Given the description of an element on the screen output the (x, y) to click on. 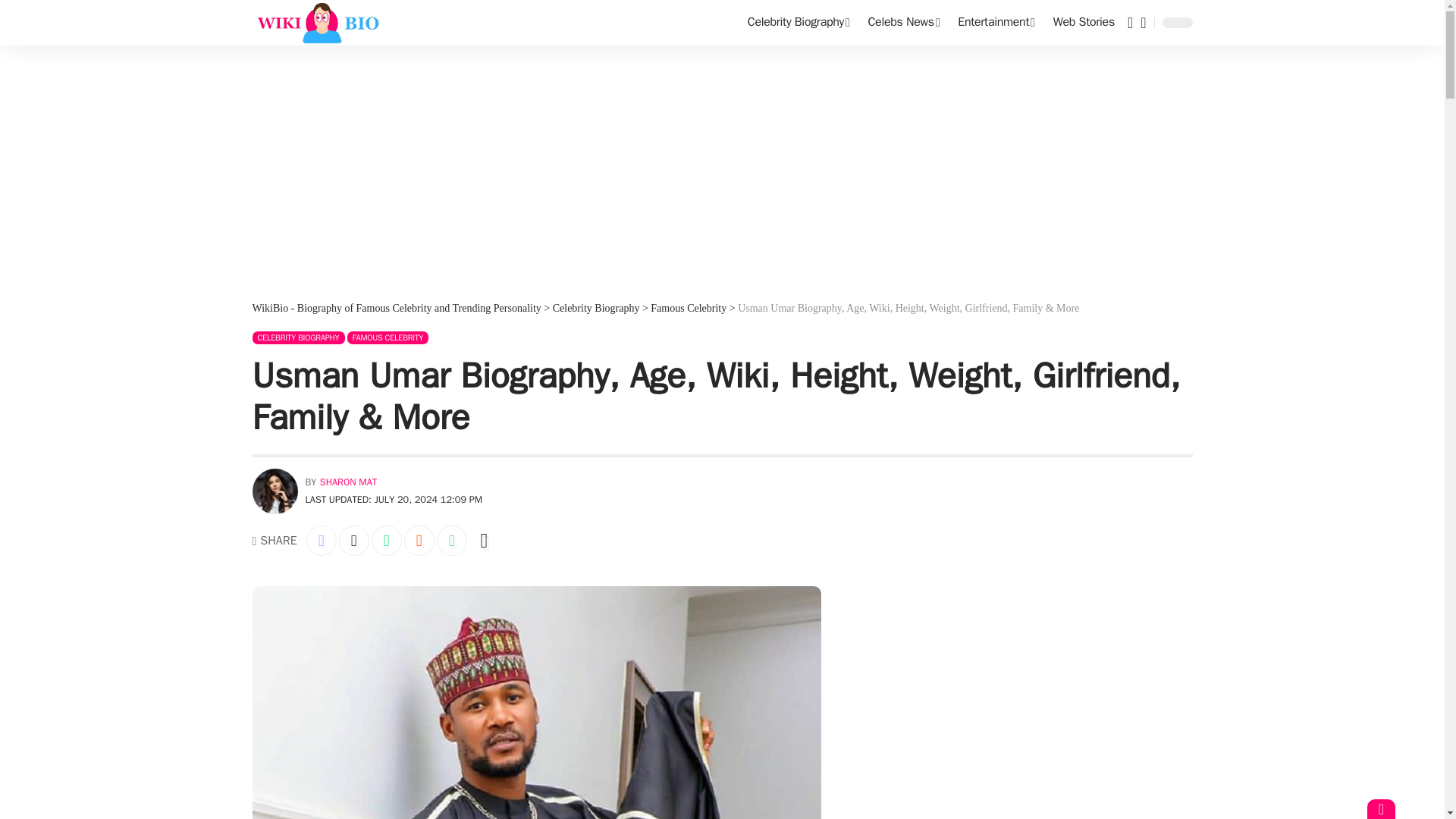
Celebs News (904, 22)
Entertainment (996, 22)
Celebrity Biography (798, 22)
Web Stories (1083, 22)
